Given the description of an element on the screen output the (x, y) to click on. 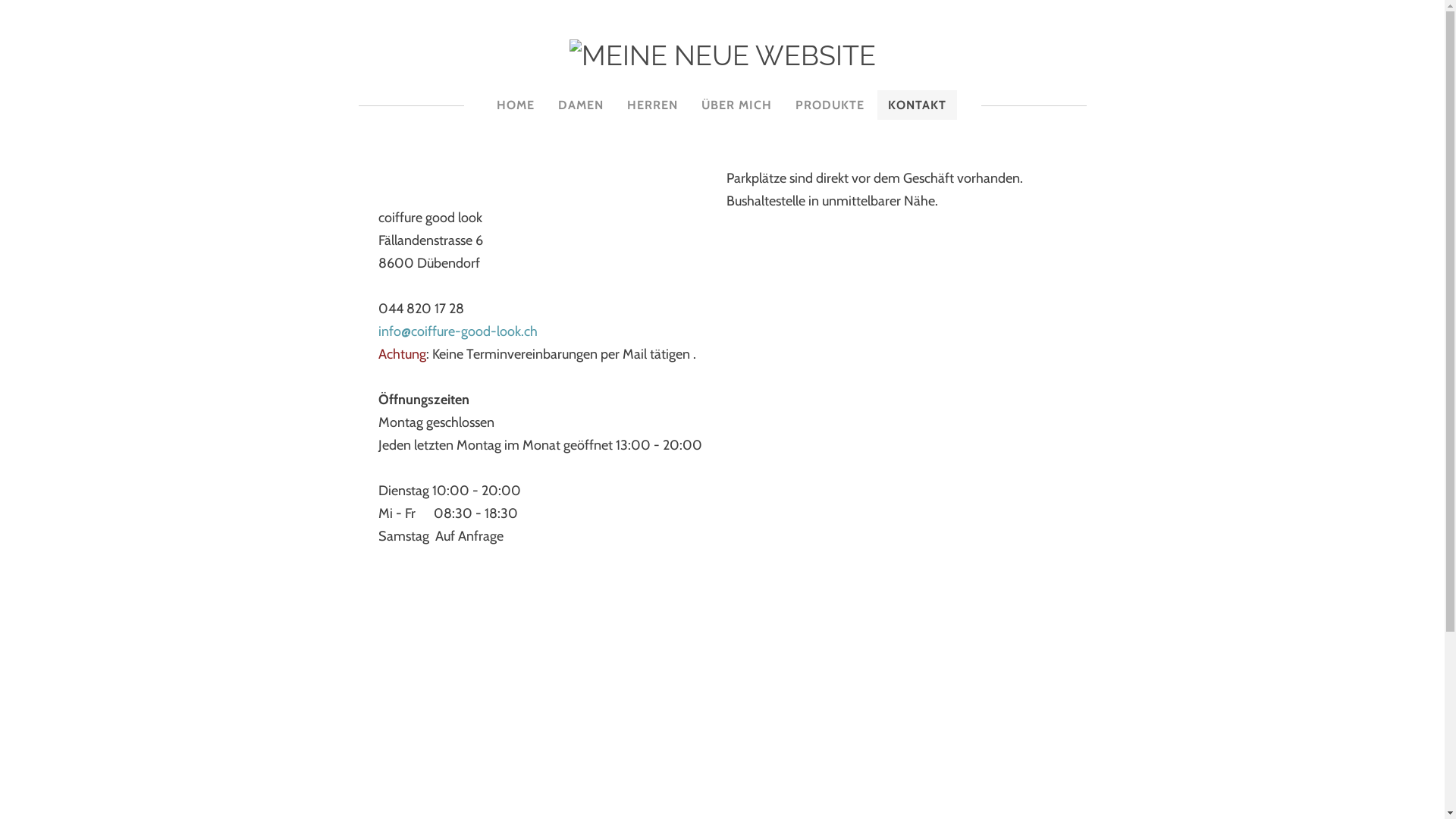
KONTAKT Element type: text (916, 104)
DAMEN Element type: text (580, 104)
HOME Element type: text (514, 104)
info@coiffure-good-look.ch Element type: text (456, 331)
HERREN Element type: text (651, 104)
PRODUKTE Element type: text (829, 104)
